Given the description of an element on the screen output the (x, y) to click on. 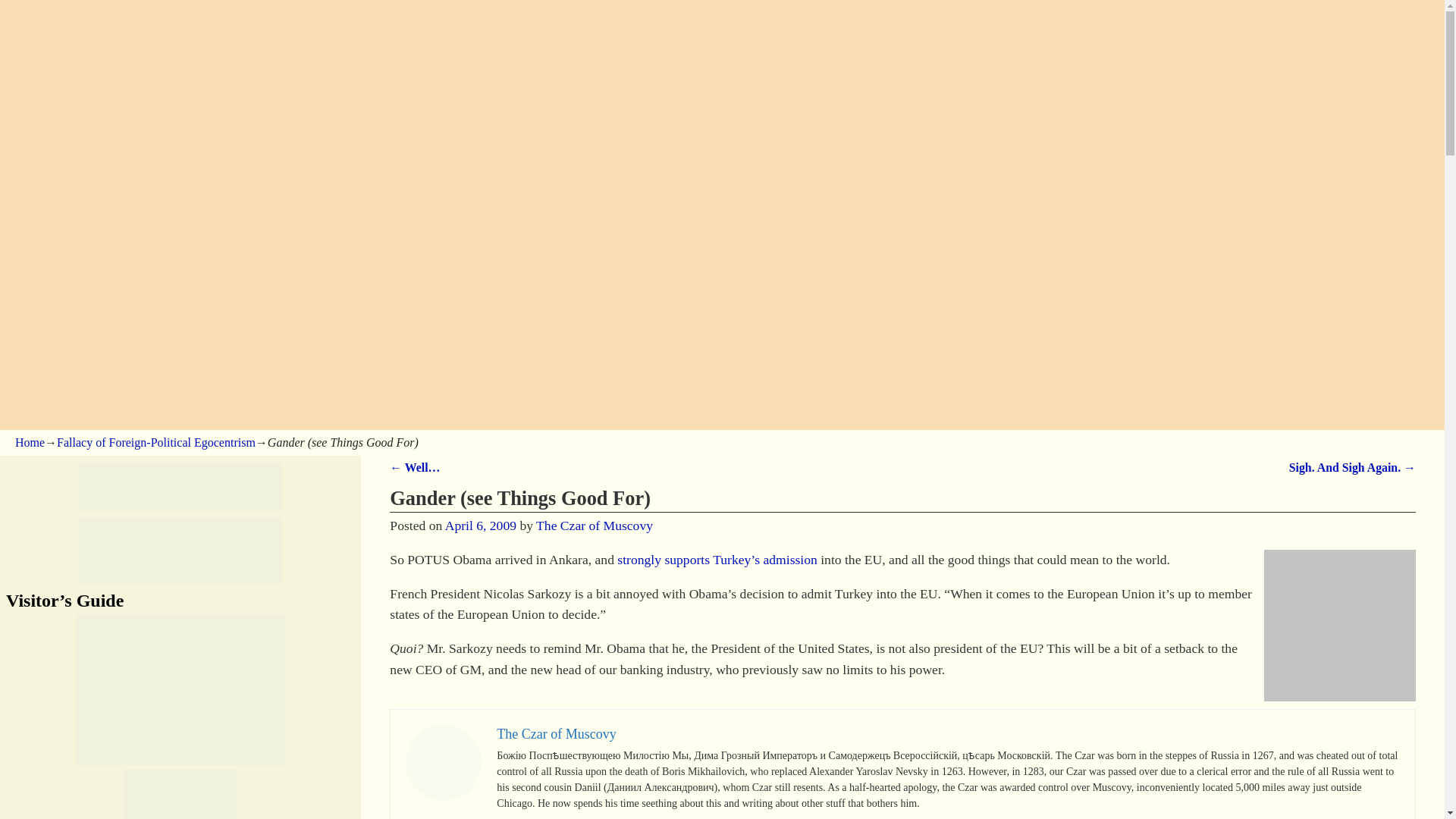
April 6, 2009 (480, 525)
Fallacy of Foreign-Political Egocentrism (156, 441)
View all posts by The Czar of Muscovy (593, 525)
The Czar of Muscovy (593, 525)
Home (29, 441)
1:12 am (480, 525)
The Czar of Muscovy (555, 734)
